Given the description of an element on the screen output the (x, y) to click on. 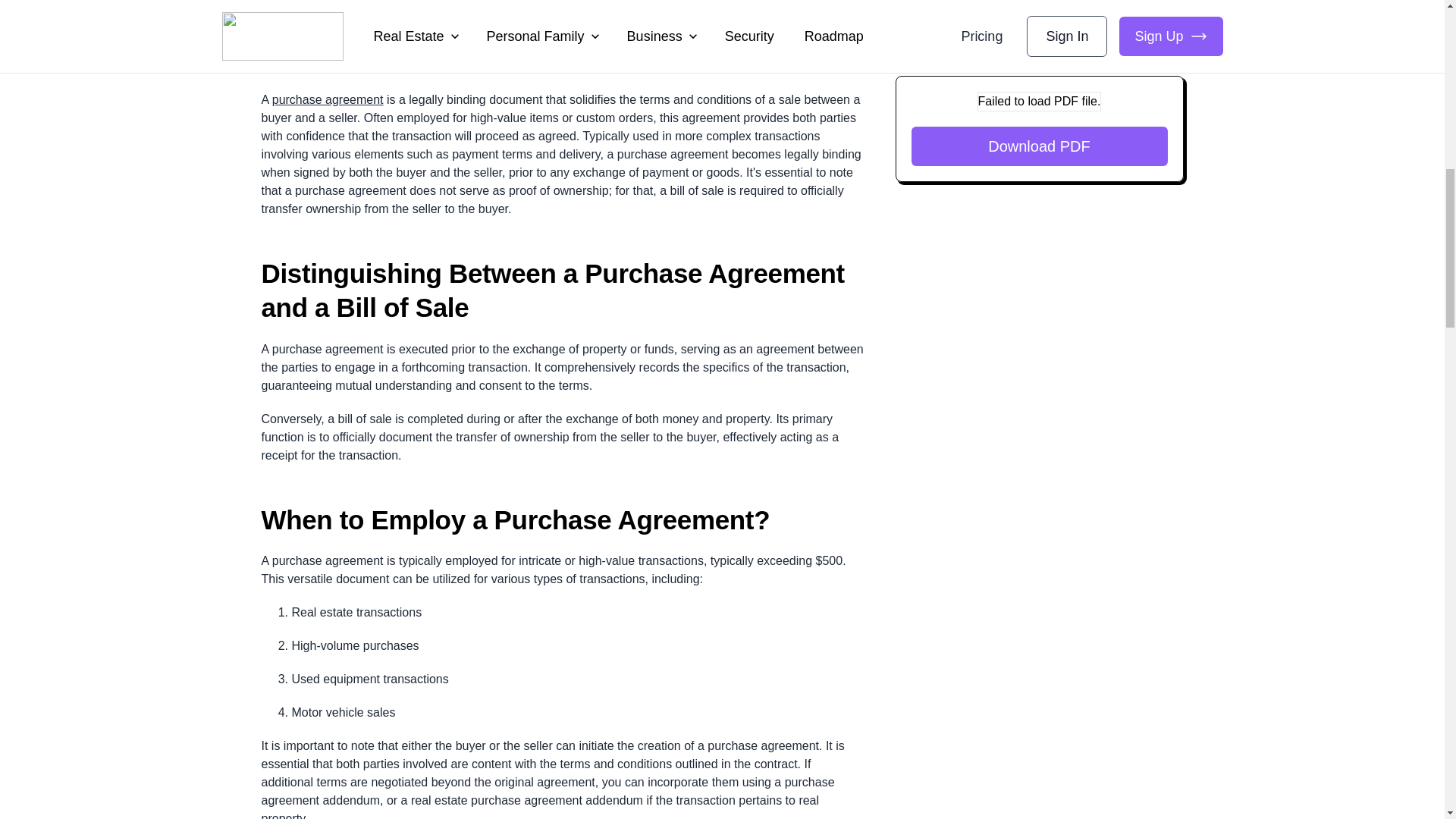
purchase agreement (328, 99)
